Given the description of an element on the screen output the (x, y) to click on. 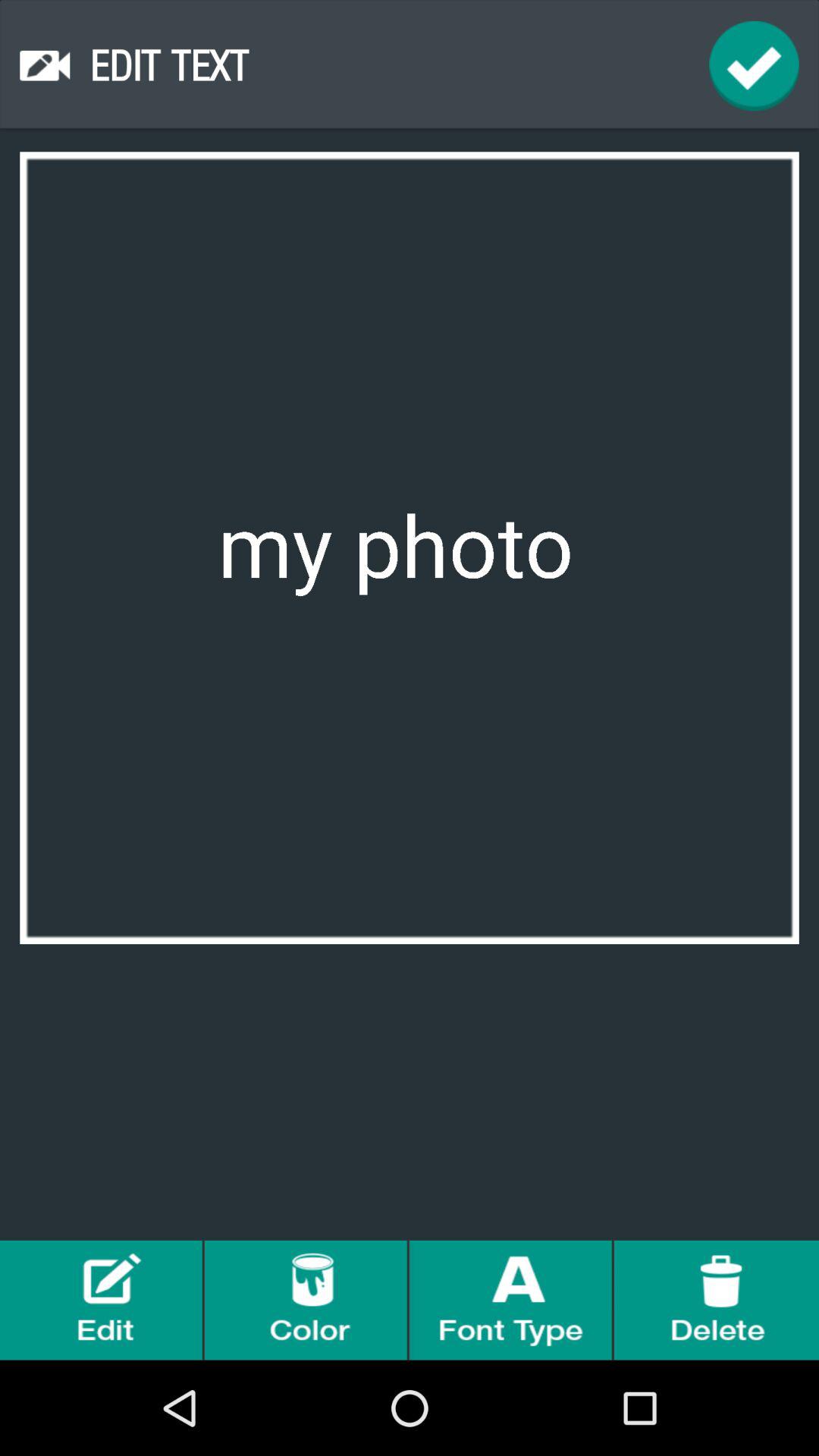
this is a edit button (102, 1299)
